Given the description of an element on the screen output the (x, y) to click on. 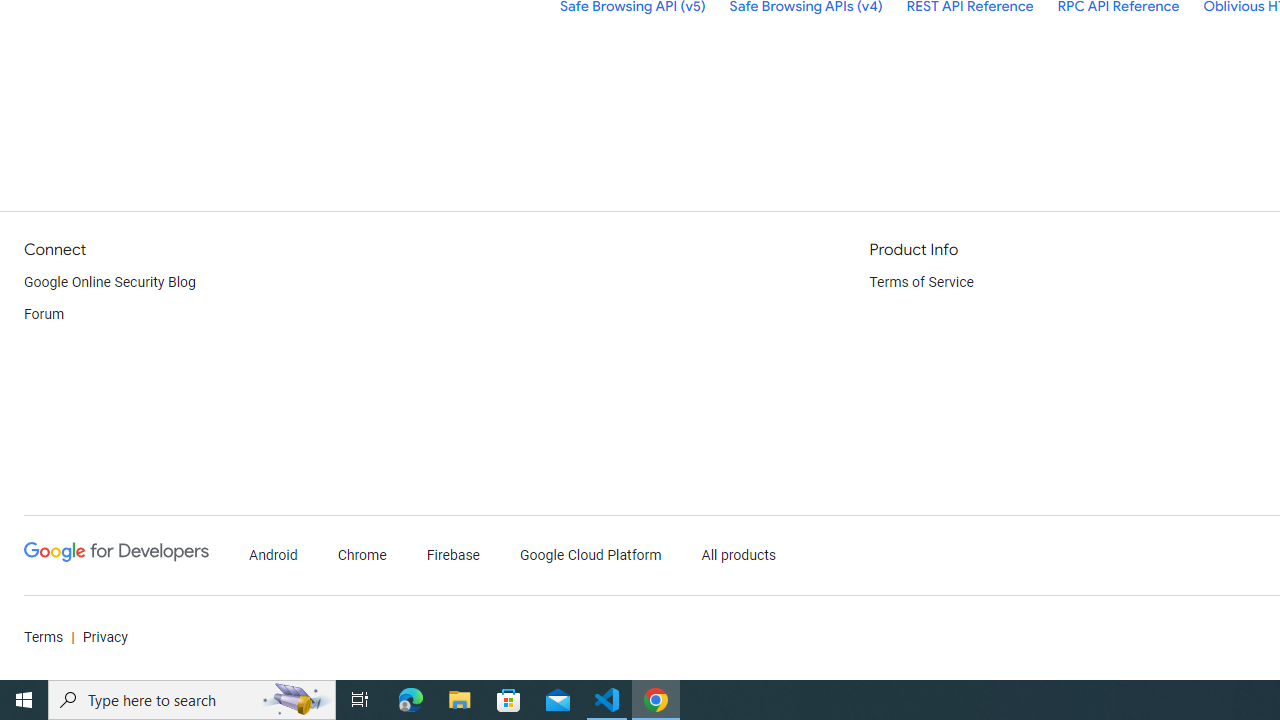
Forum (44, 314)
Google Online Security Blog (109, 282)
Android (273, 555)
Terms (44, 637)
Google Cloud Platform (590, 555)
Privacy (104, 637)
Google Developers (116, 555)
All products (738, 555)
Terms of Service (921, 282)
Firebase (453, 555)
Google Developers (116, 551)
